Given the description of an element on the screen output the (x, y) to click on. 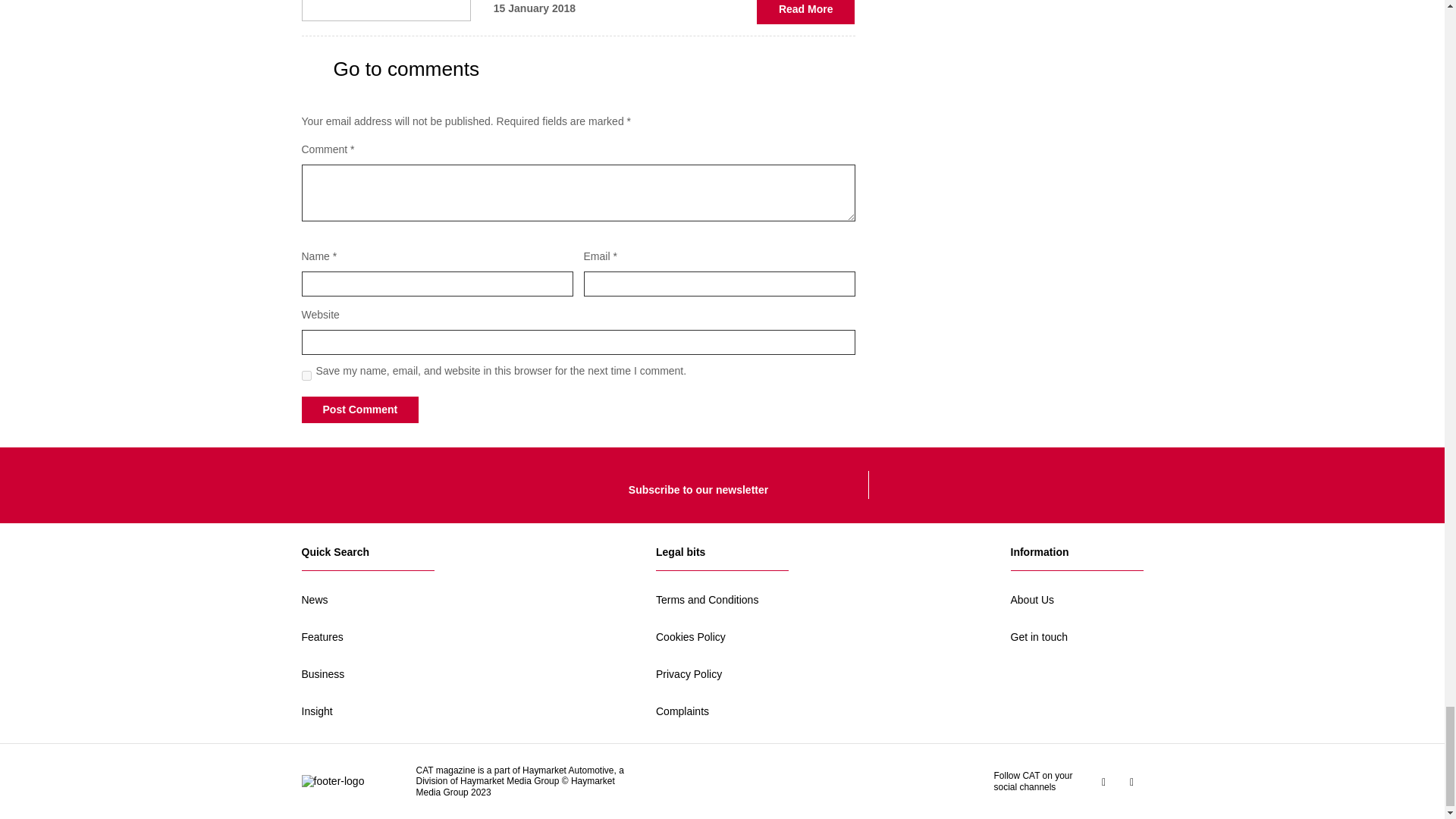
Post Comment (360, 409)
Read More (806, 12)
